Given the description of an element on the screen output the (x, y) to click on. 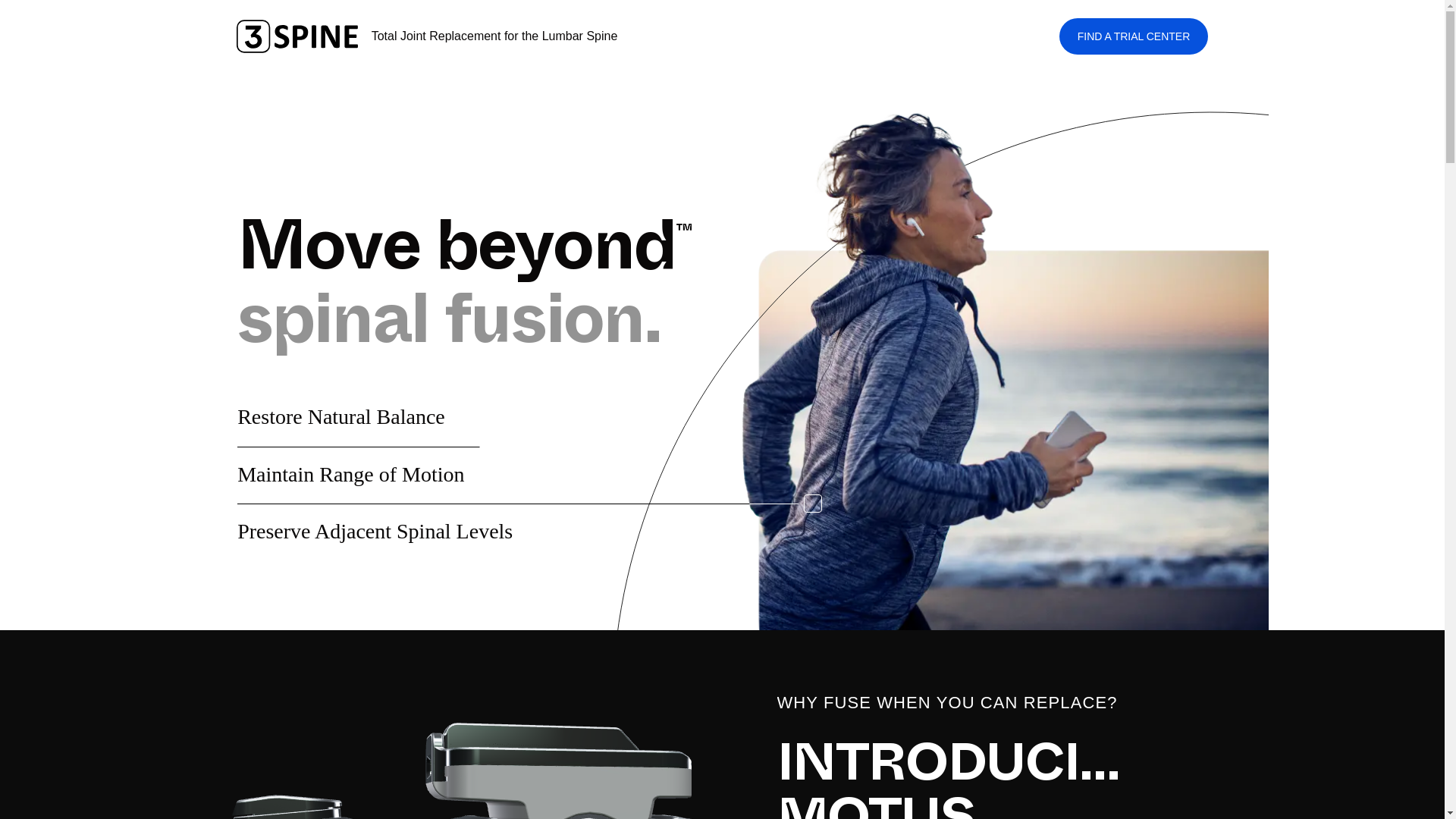
FIND A TRIAL CENTER Element type: text (1133, 36)
FIND A TRIAL CENTER Element type: text (1133, 36)
